Given the description of an element on the screen output the (x, y) to click on. 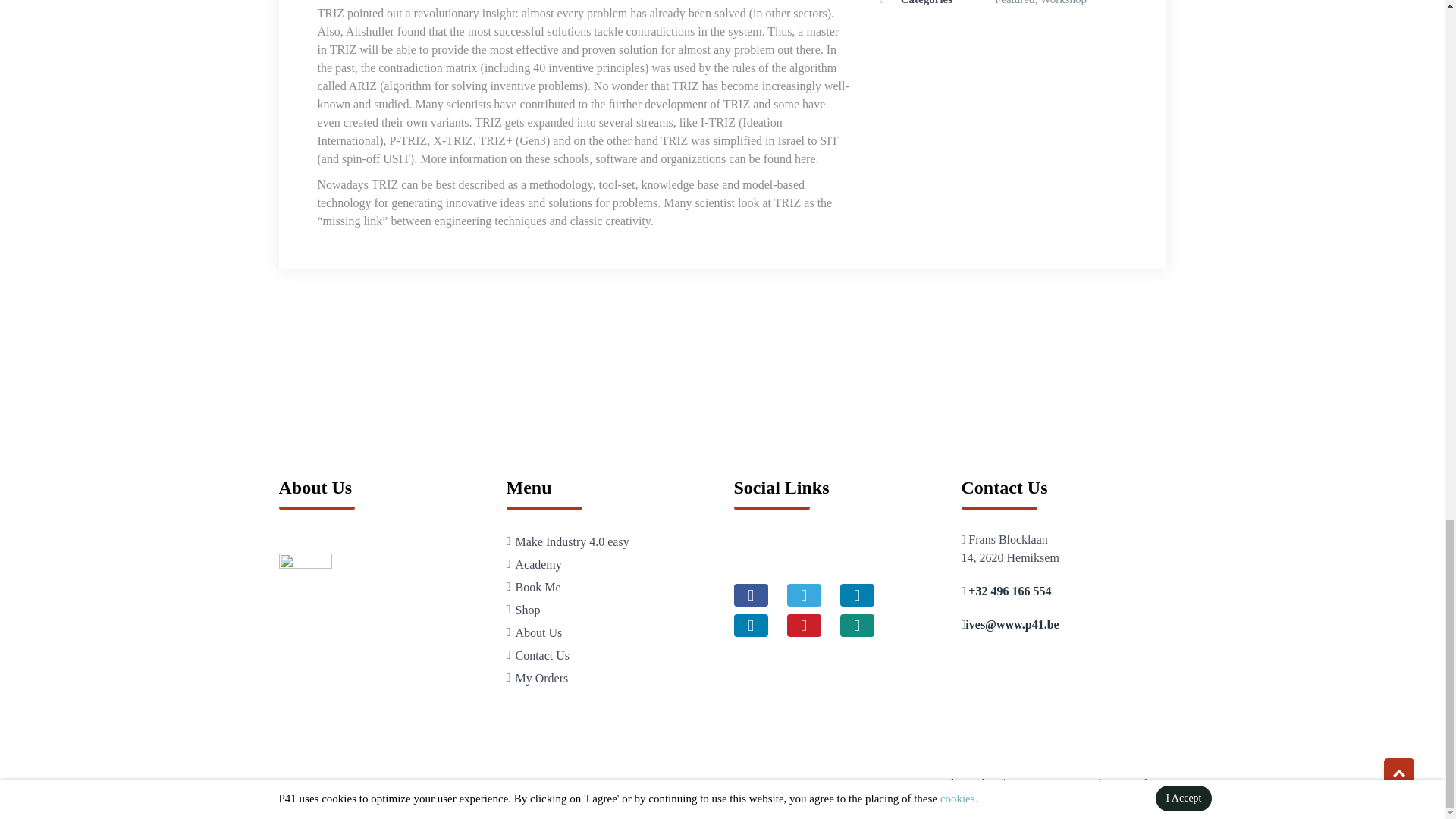
Workshop (1063, 2)
Contact Us (542, 655)
here (804, 158)
Make Industry 4.0 easy (571, 541)
Book Me (537, 586)
Shop (527, 609)
TRIZ links (804, 158)
About Us (538, 632)
Featured (1013, 2)
My Orders (542, 677)
